Given the description of an element on the screen output the (x, y) to click on. 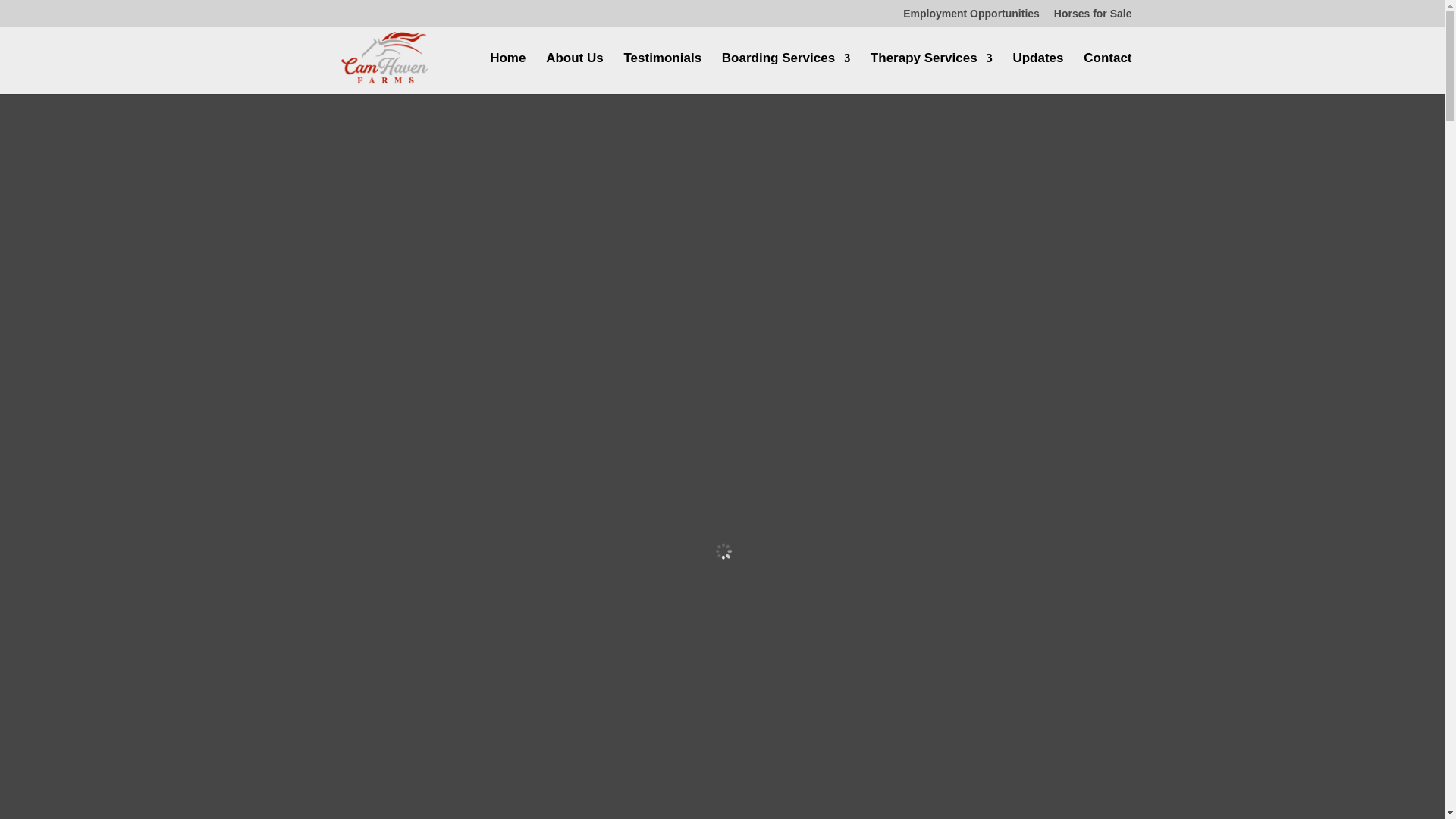
Testimonials (662, 73)
Therapy Services (931, 73)
Boarding Services (786, 73)
Contact (1107, 73)
Employment Opportunities (970, 16)
Horses for Sale (1093, 16)
About Us (575, 73)
Updates (1036, 73)
